Given the description of an element on the screen output the (x, y) to click on. 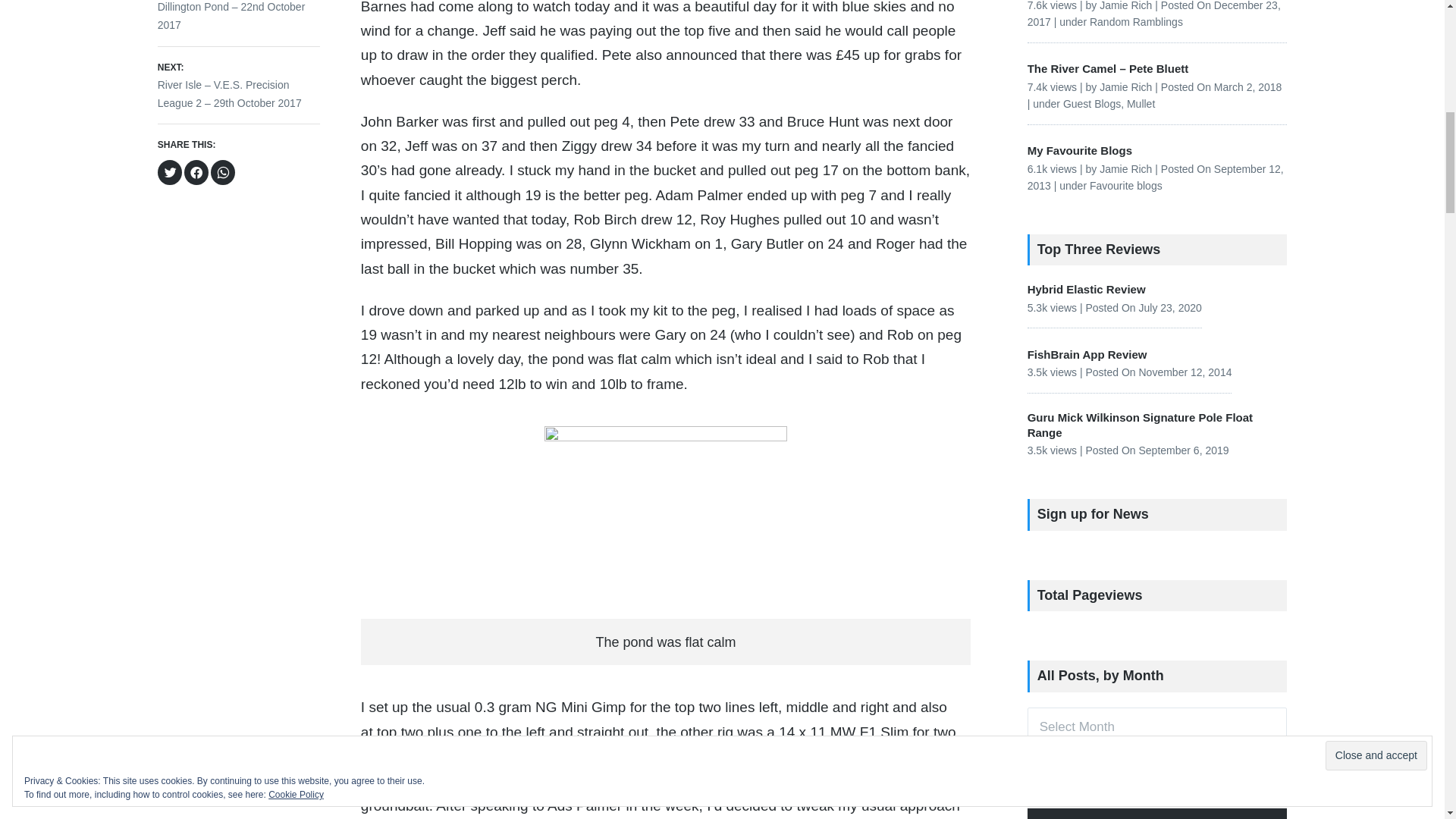
Click to share on Twitter (169, 172)
Click to share on WhatsApp (222, 172)
Sunday (1268, 813)
Tuesday (1083, 813)
Friday (1193, 813)
Thursday (1156, 813)
Wednesday (1120, 813)
Saturday (1230, 813)
Click to share on Facebook (196, 172)
Monday (1045, 813)
